Given the description of an element on the screen output the (x, y) to click on. 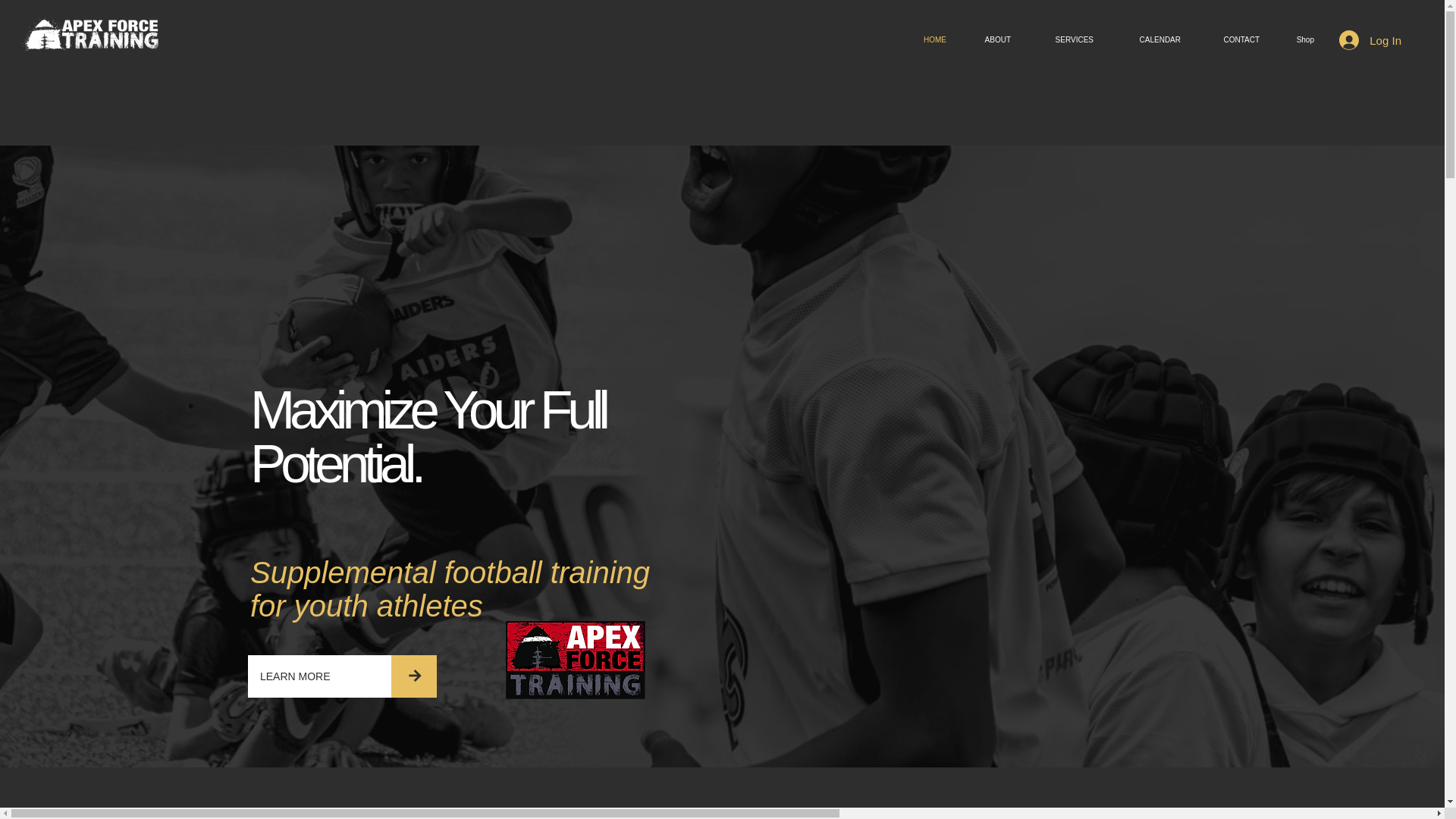
ABOUT (990, 39)
CONTACT (1231, 39)
Log In (1369, 39)
Apex Force Training Logo.png (91, 34)
SERVICES (1063, 39)
HOME (928, 39)
Apex Force Logo Square2 color.png (574, 660)
Shop (1297, 39)
LEARN MORE (319, 676)
CALENDAR (1148, 39)
